Given the description of an element on the screen output the (x, y) to click on. 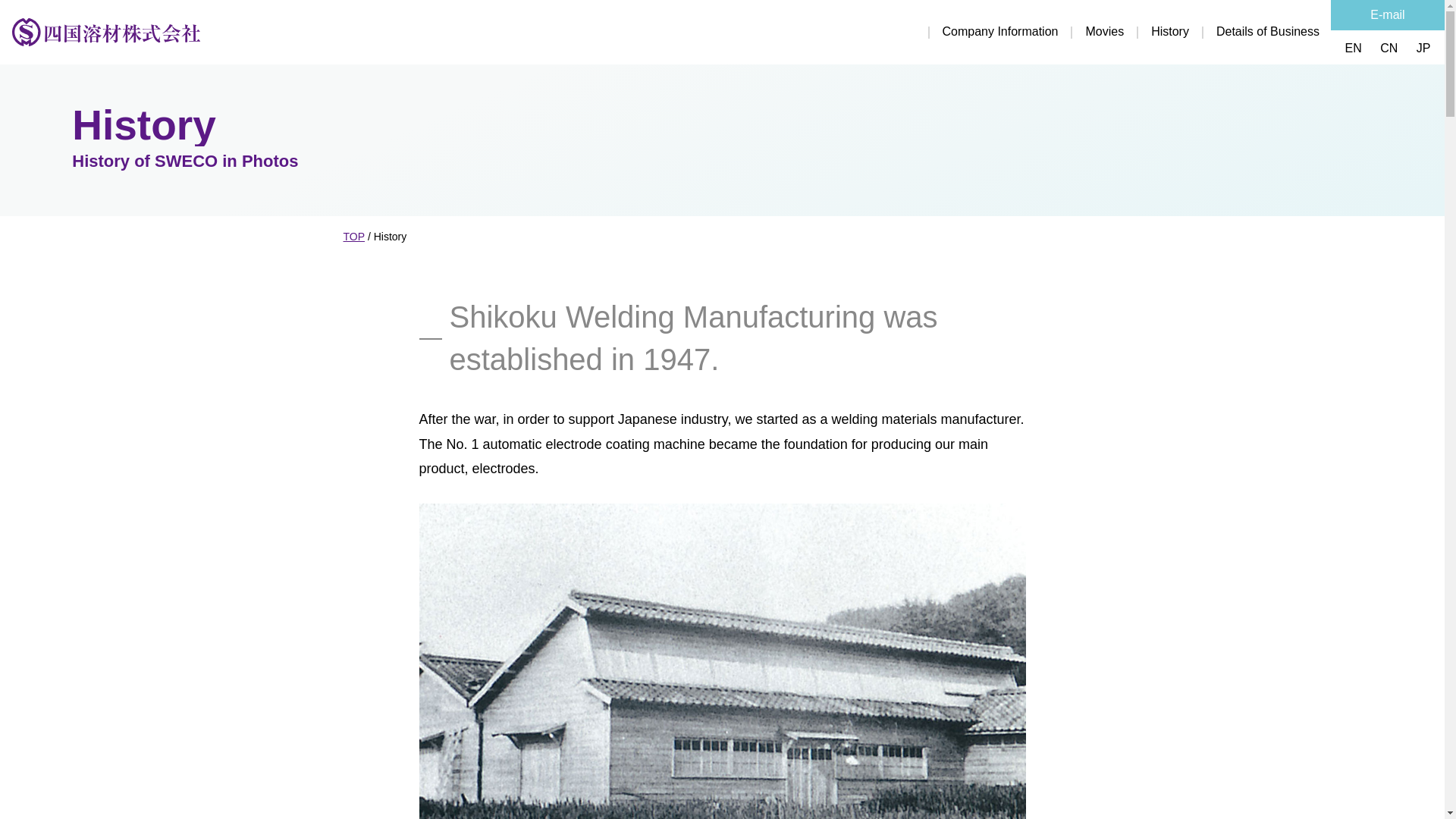
Company Information (986, 32)
Movies (1091, 32)
TOP (353, 236)
History (1156, 32)
JP (1423, 47)
Details of Business (1254, 32)
CN (1388, 47)
EN (1353, 47)
